Given the description of an element on the screen output the (x, y) to click on. 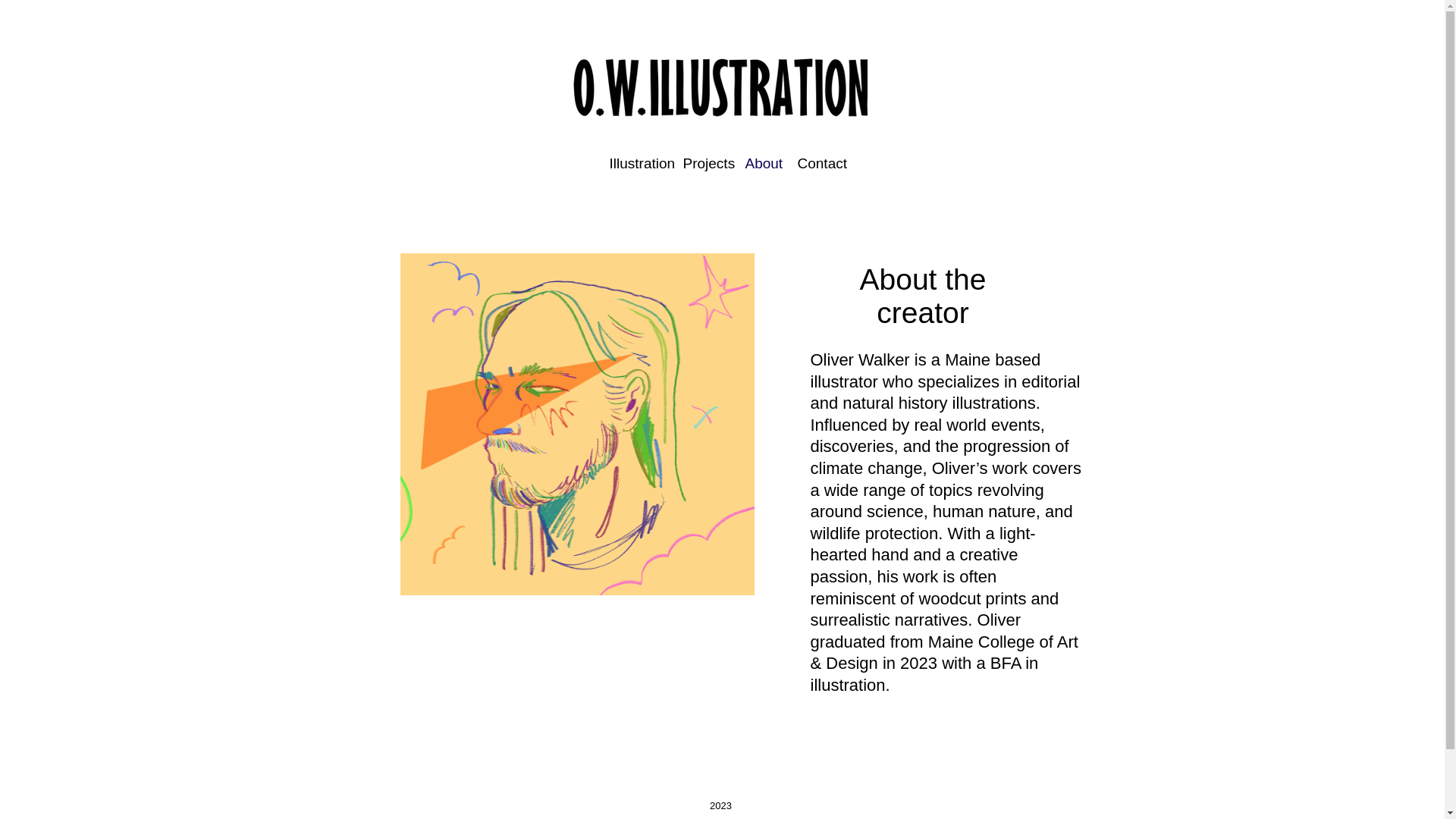
Contact (815, 163)
Projects (702, 163)
Illustration (633, 163)
About (759, 163)
